Given the description of an element on the screen output the (x, y) to click on. 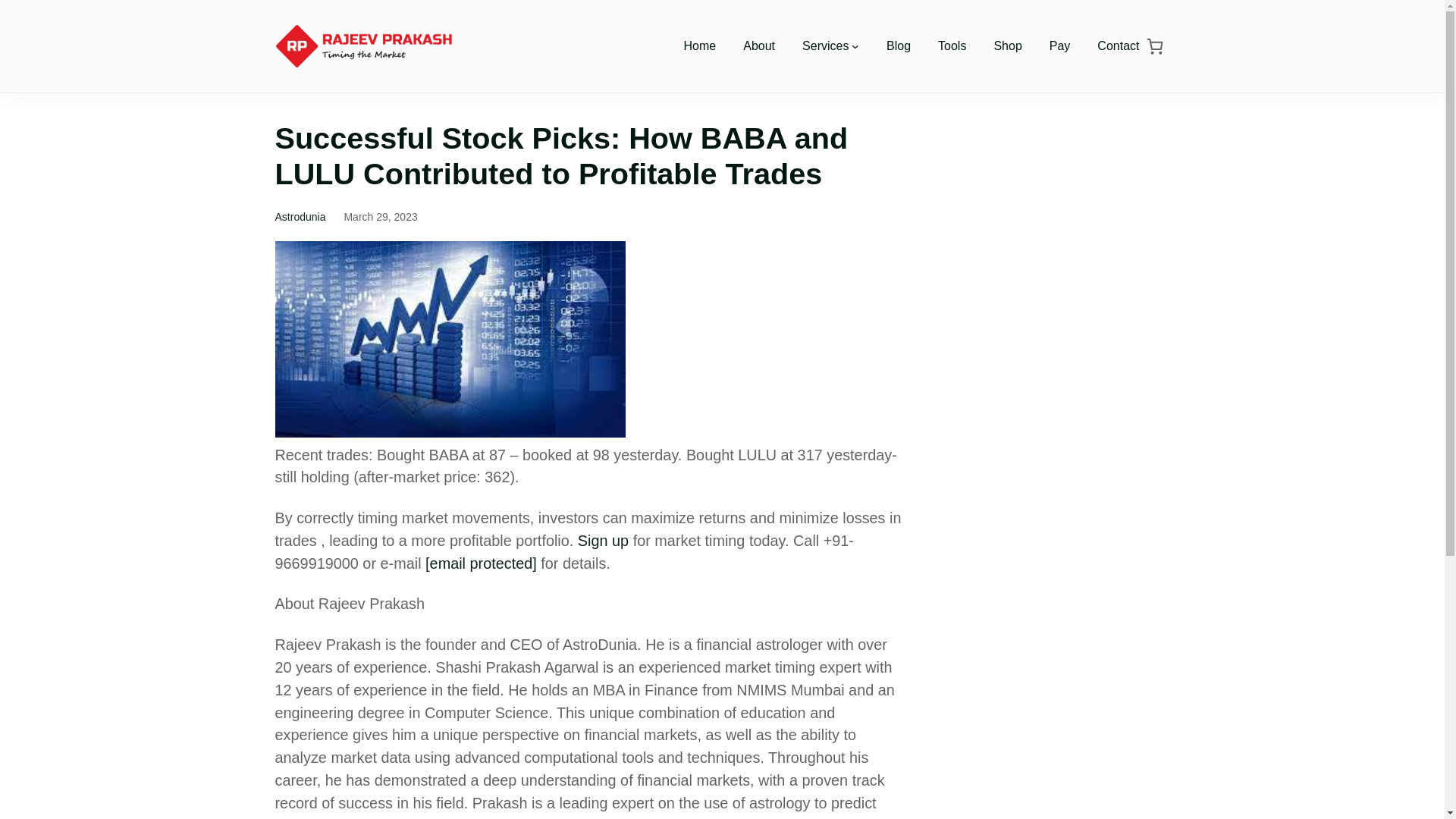
Home (700, 46)
Services (825, 46)
Pay (1059, 46)
Contact (1117, 46)
Blog (898, 46)
About (758, 46)
Tools (951, 46)
Sign up (603, 540)
Shop (1007, 46)
